Given the description of an element on the screen output the (x, y) to click on. 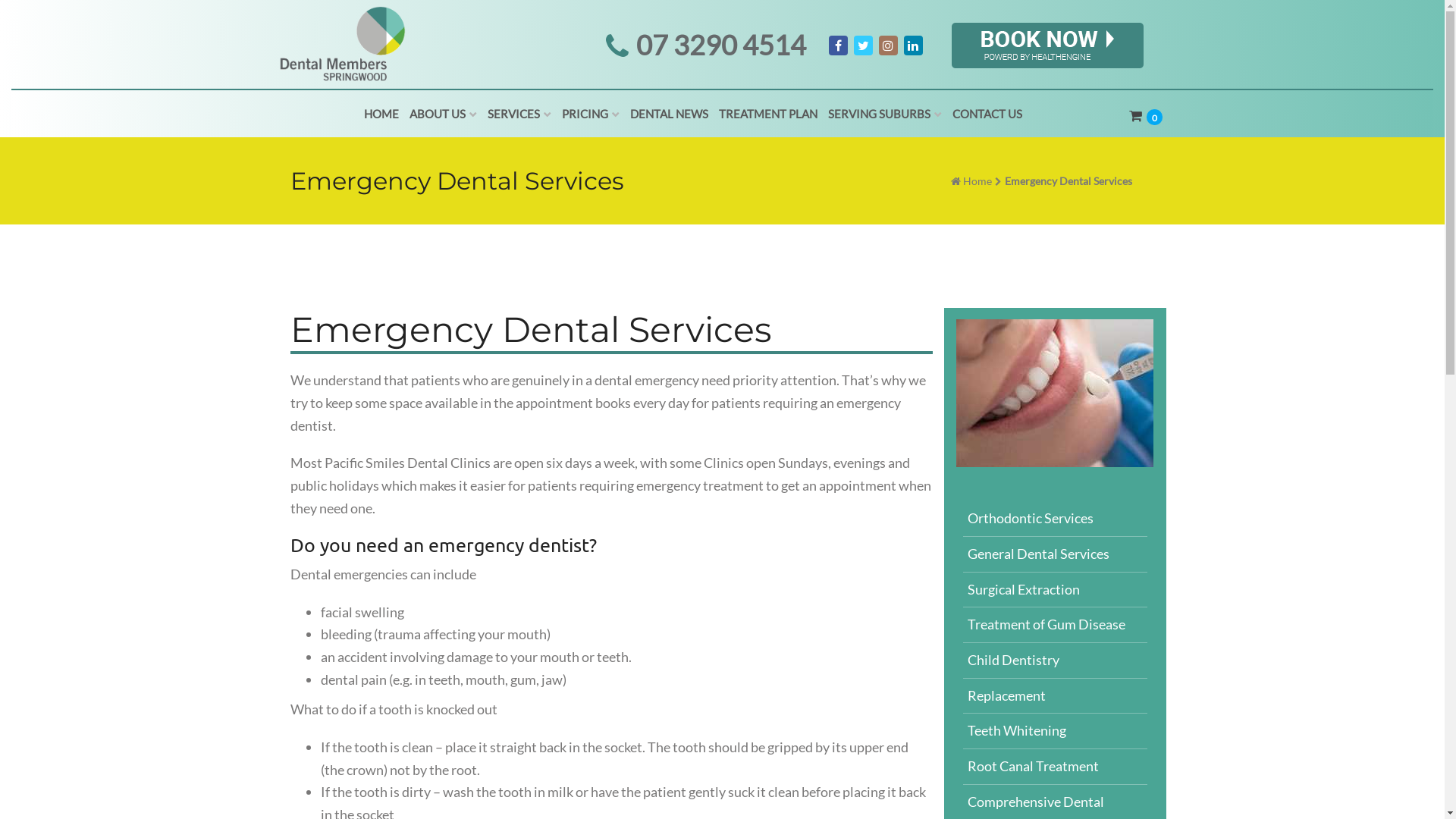
ABOUT US Element type: text (442, 113)
SERVICES Element type: text (519, 113)
HOME Element type: text (381, 113)
Child Dentistry Element type: text (1055, 660)
Instragram Element type: hover (887, 45)
Treatment of Gum Disease Element type: text (1055, 625)
Teeth Whitening Element type: text (1055, 731)
twitter Element type: hover (862, 45)
SERVING SUBURBS Element type: text (884, 113)
Orthodontic Services Element type: text (1055, 518)
DENTAL NEWS Element type: text (668, 113)
Linkedin Element type: hover (912, 45)
CONTACT US Element type: text (986, 113)
General Dental Services Element type: text (1055, 554)
Replacement Element type: text (1055, 696)
PRICING Element type: text (590, 113)
Root Canal Treatment Element type: text (1055, 766)
facebook Element type: hover (837, 45)
TREATMENT PLAN Element type: text (768, 113)
Home Element type: text (977, 180)
0 Element type: text (1154, 117)
Surgical Extraction Element type: text (1055, 590)
